Given the description of an element on the screen output the (x, y) to click on. 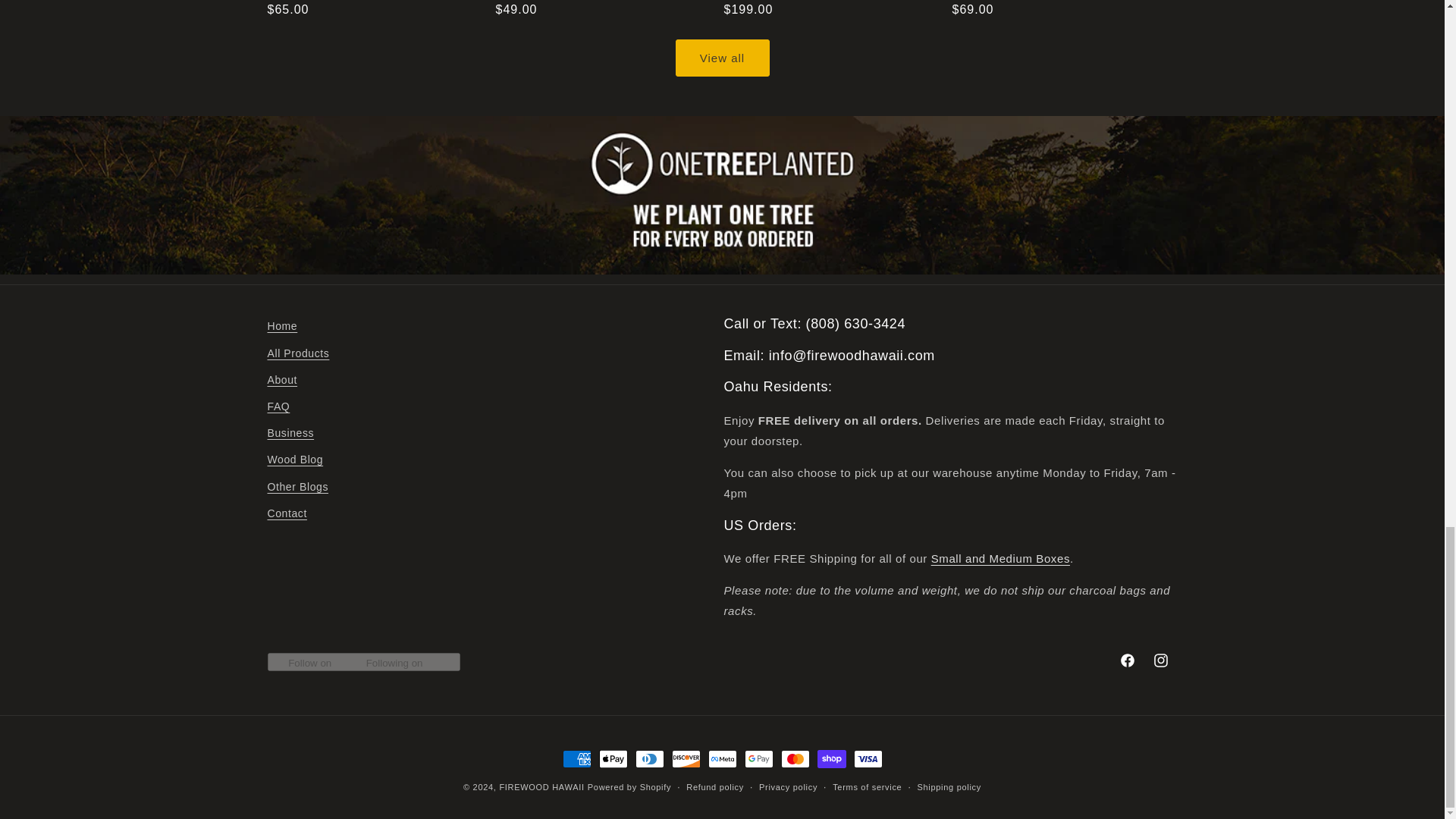
Free Shipping to the US - Small and Medium Boxes (1000, 558)
